Given the description of an element on the screen output the (x, y) to click on. 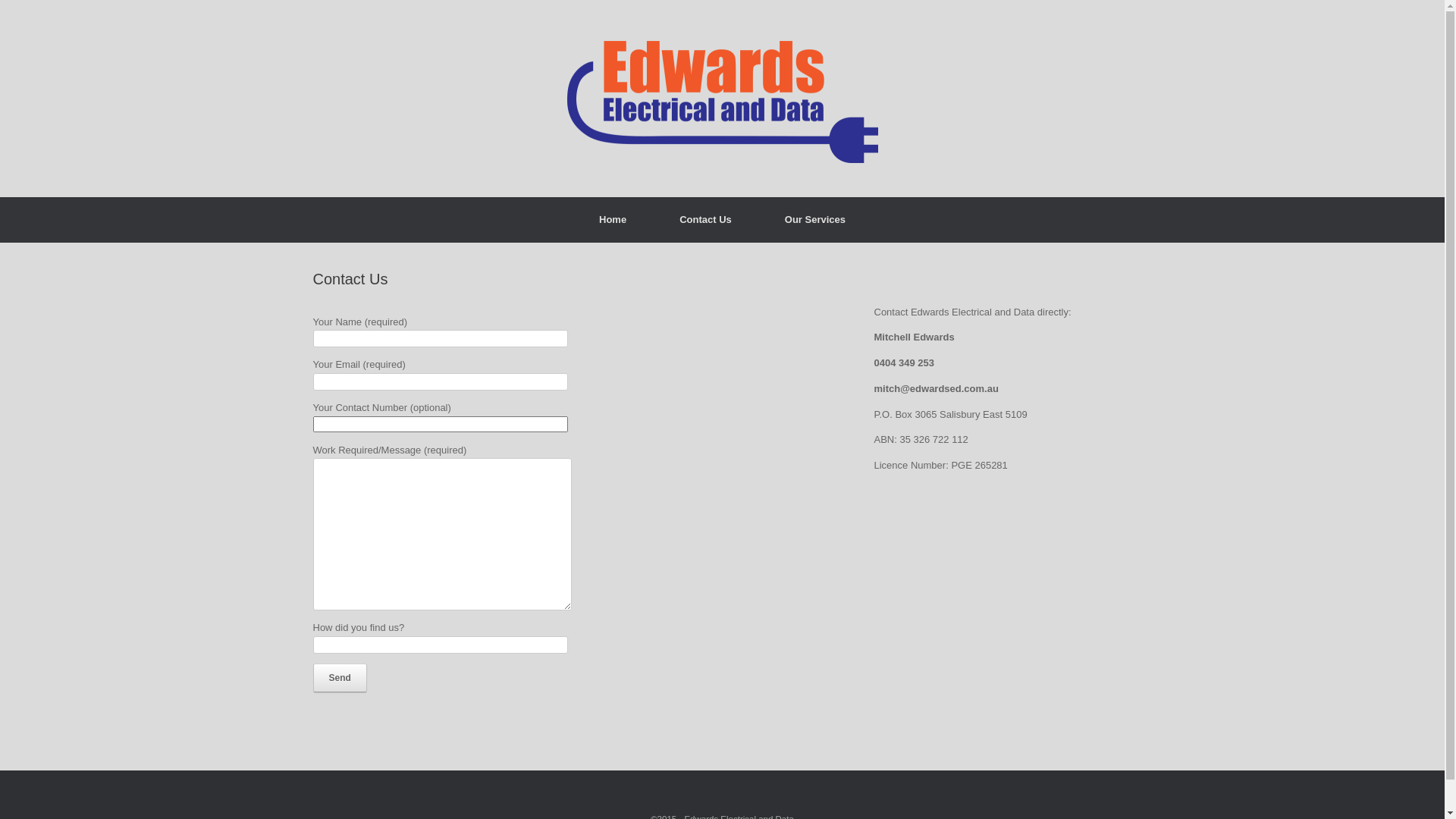
Our Services Element type: text (815, 219)
Send Element type: text (339, 677)
Edwards Electrical and Data Element type: hover (721, 98)
Home Element type: text (612, 219)
Contact Us Element type: text (705, 219)
